Given the description of an element on the screen output the (x, y) to click on. 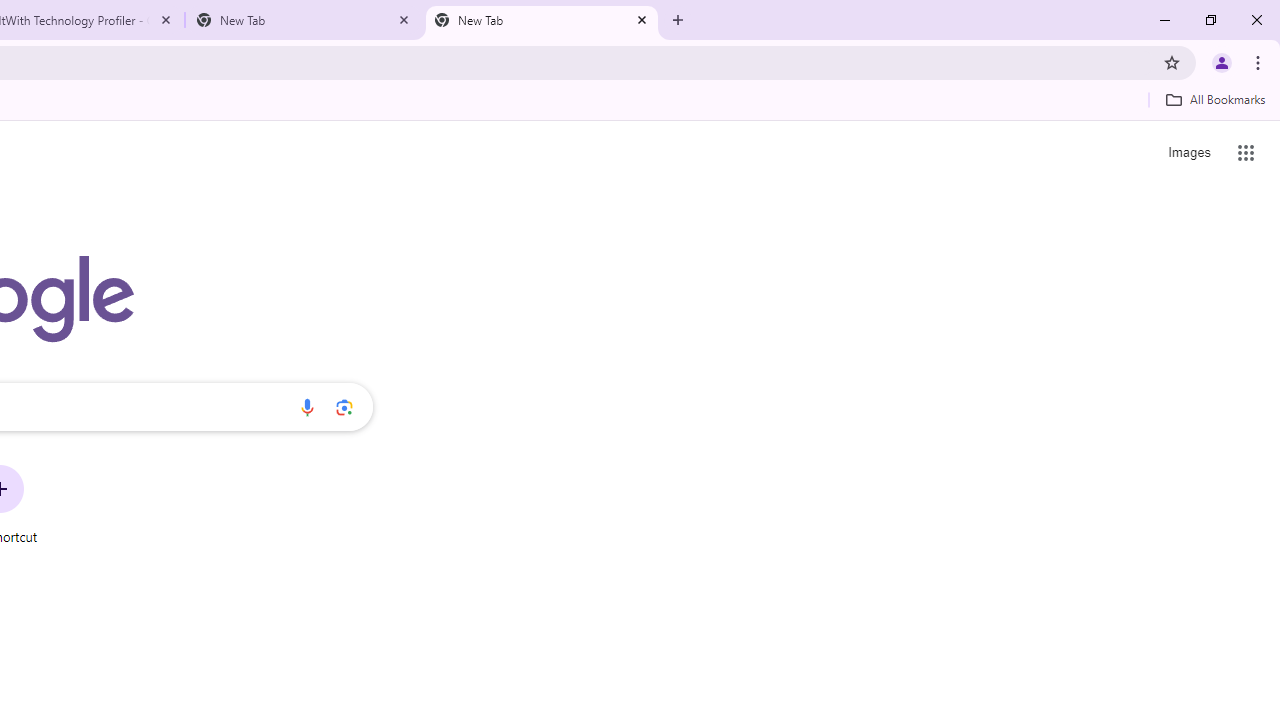
New Tab (541, 20)
All Bookmarks (1215, 99)
Search by image (344, 407)
New Tab (304, 20)
Search for Images  (1188, 152)
Search by voice (307, 407)
